Given the description of an element on the screen output the (x, y) to click on. 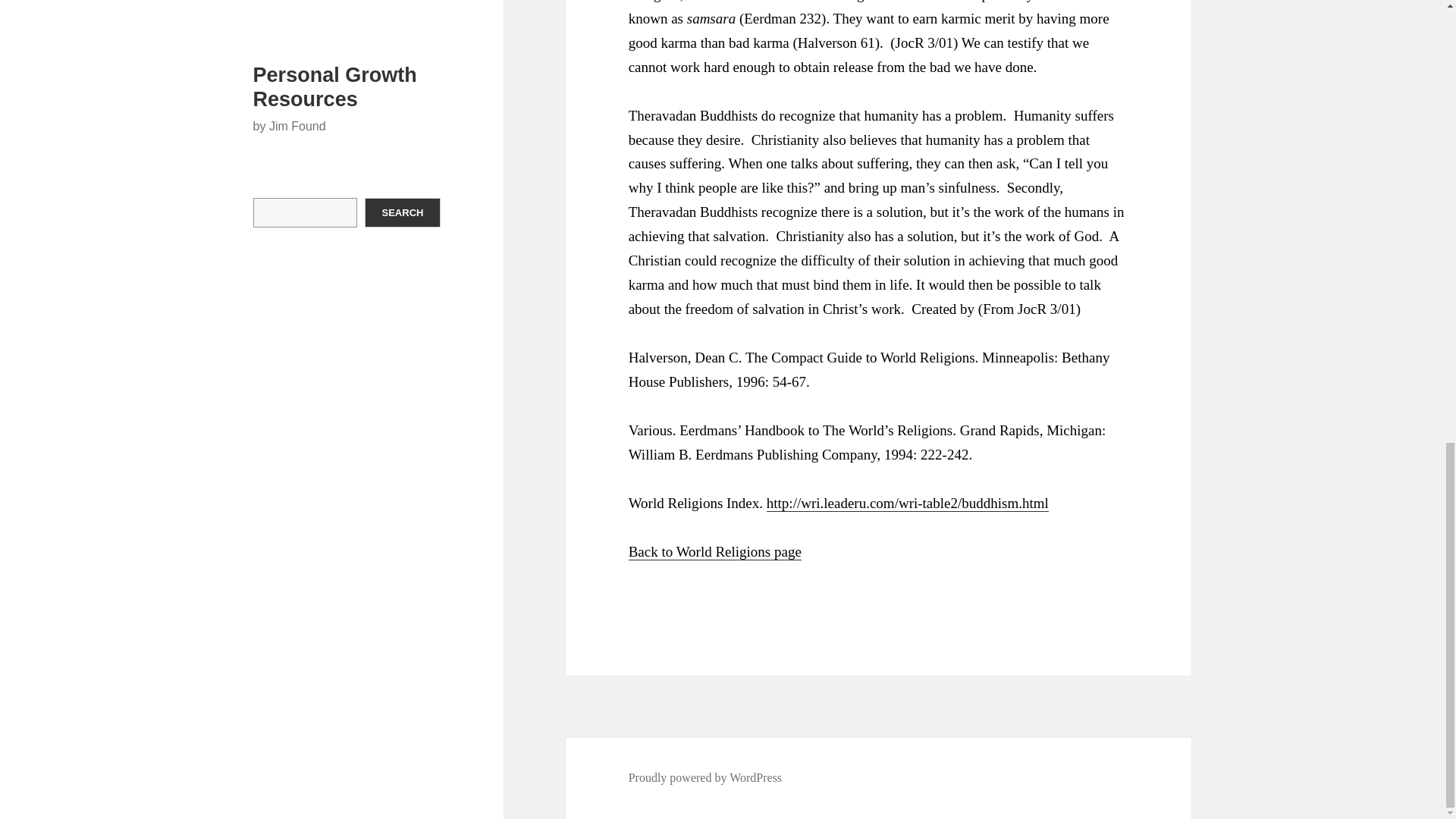
World Rel communication (715, 551)
Proudly powered by WordPress (704, 777)
Back to World Religions page (715, 551)
